Given the description of an element on the screen output the (x, y) to click on. 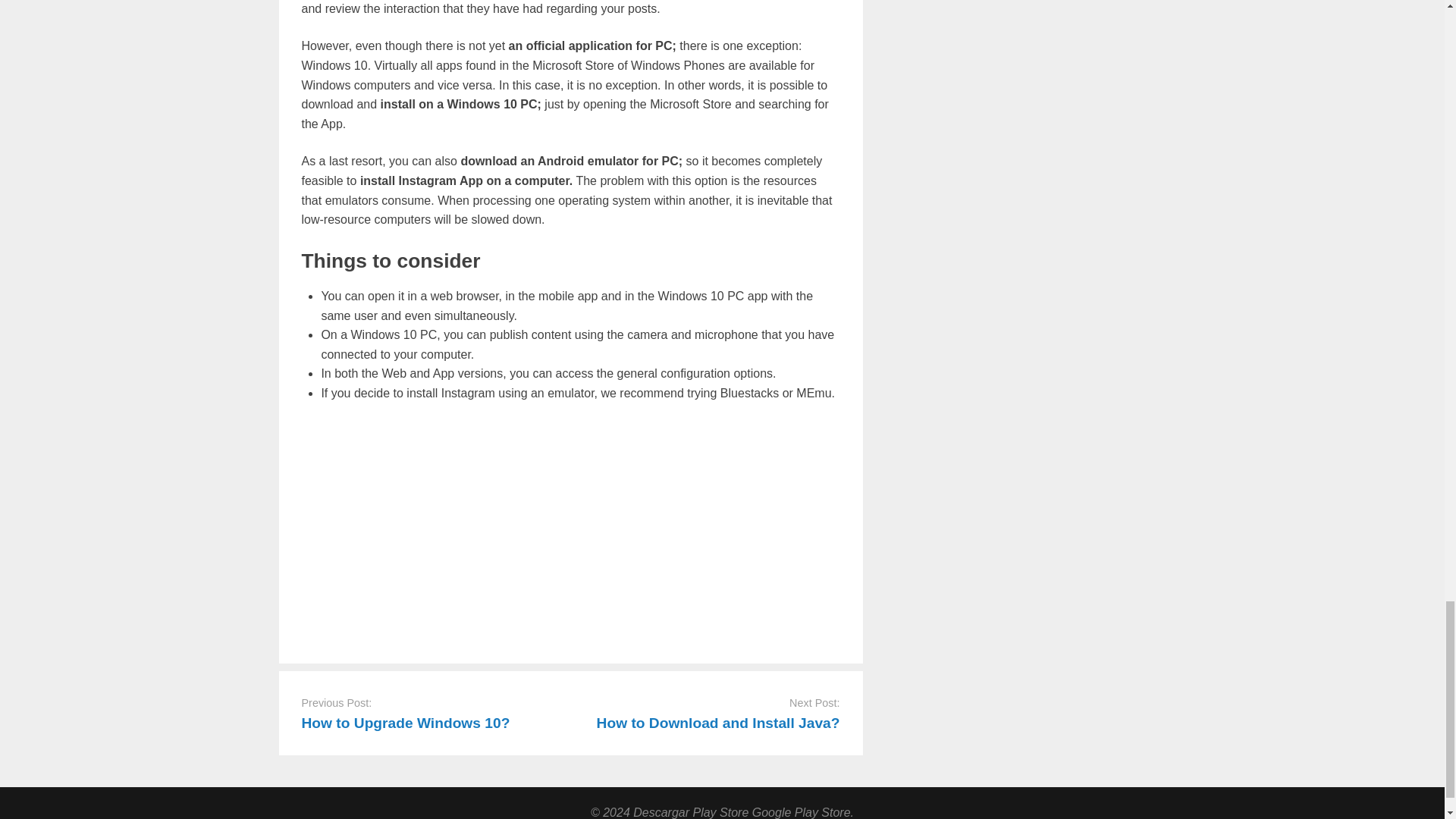
How to Upgrade Windows 10? (406, 722)
How to Download and Install Java? (718, 722)
Advertisement (570, 528)
